Given the description of an element on the screen output the (x, y) to click on. 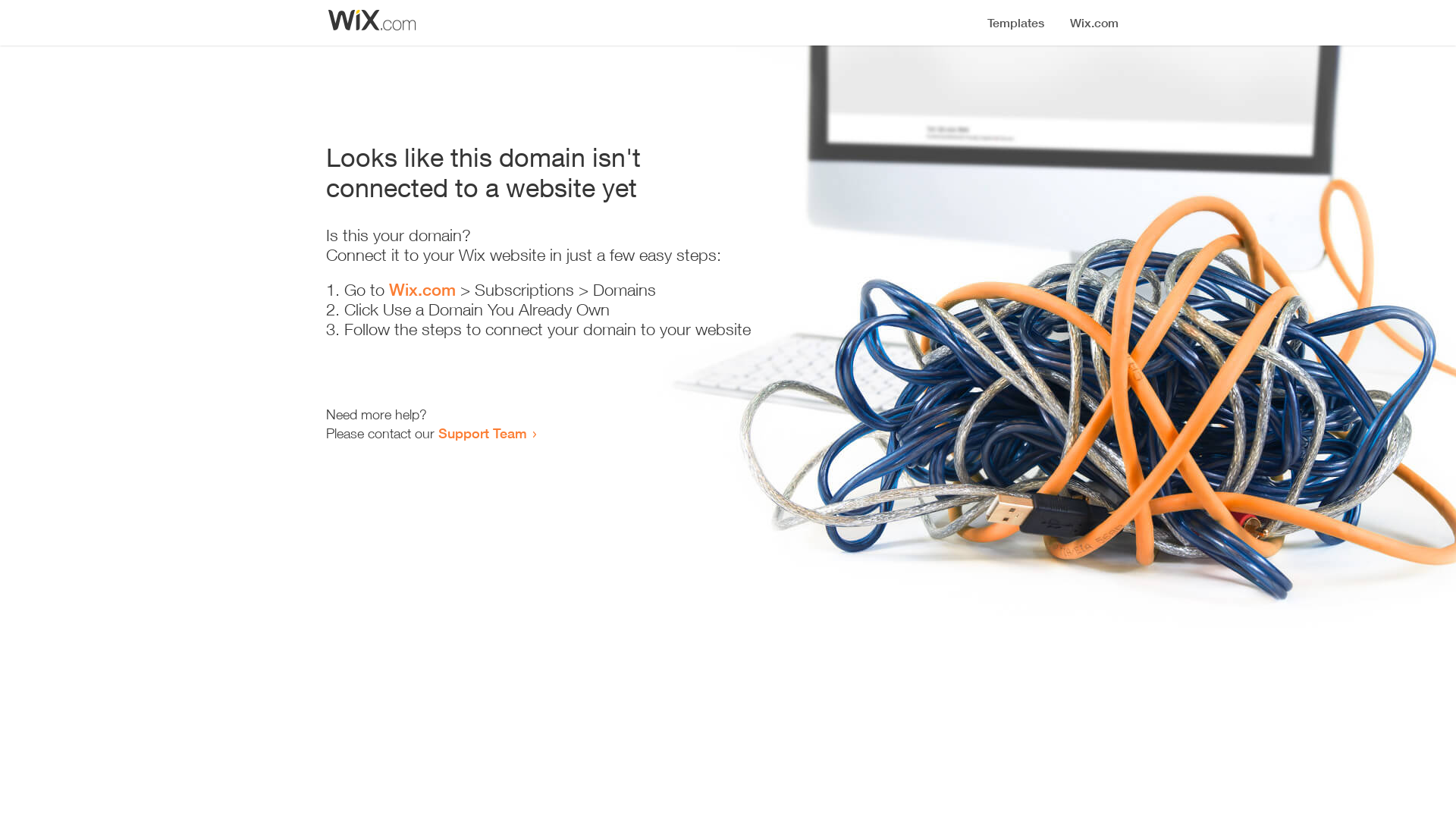
Support Team Element type: text (482, 432)
Wix.com Element type: text (422, 289)
